Given the description of an element on the screen output the (x, y) to click on. 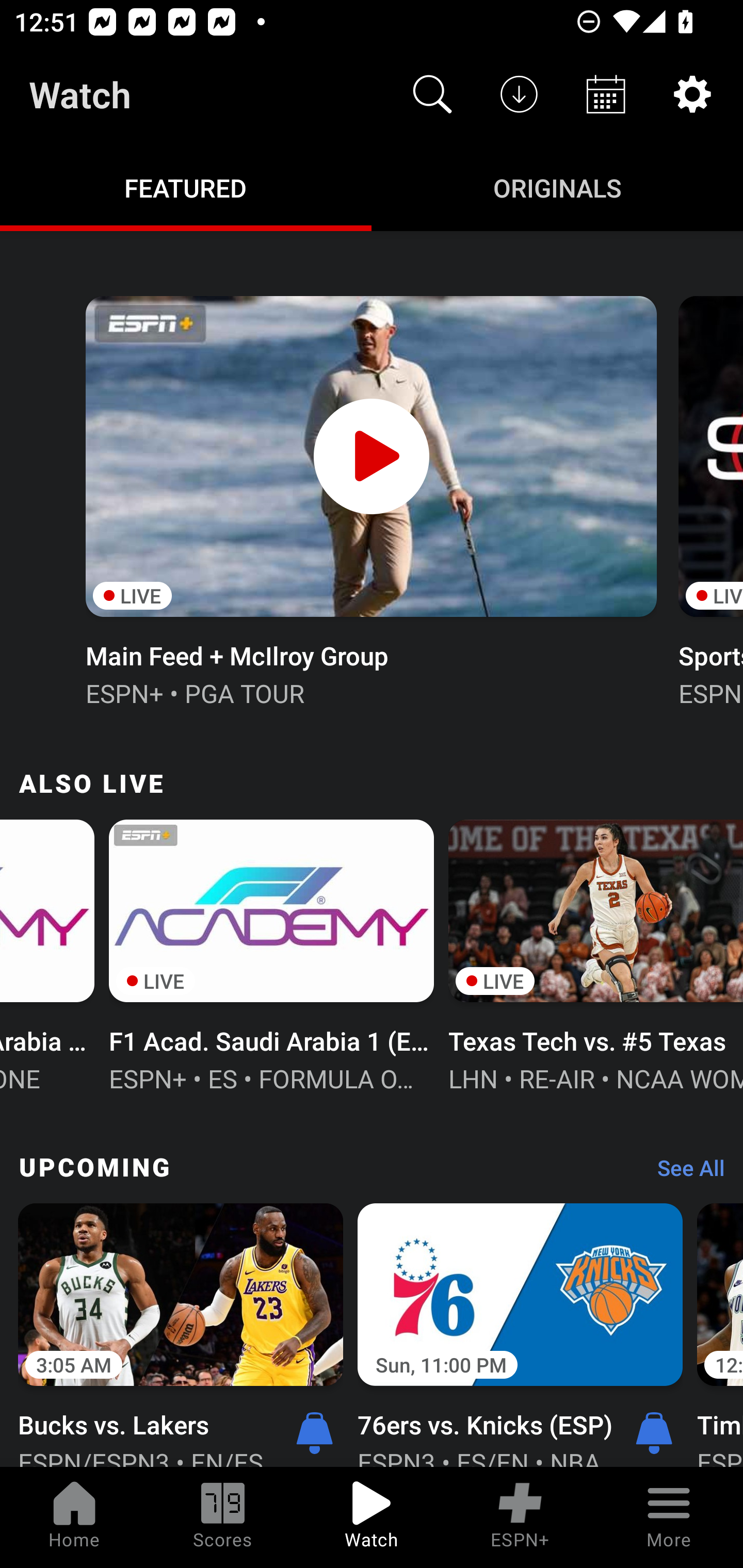
Search (432, 93)
Downloads (518, 93)
Schedule (605, 93)
Settings (692, 93)
Originals ORIGINALS (557, 187)
 LIVE Main Feed + McIlroy Group ESPN+ • PGA TOUR (370, 499)
See All (683, 1172)
Home (74, 1517)
Scores (222, 1517)
ESPN+ (519, 1517)
More (668, 1517)
